Given the description of an element on the screen output the (x, y) to click on. 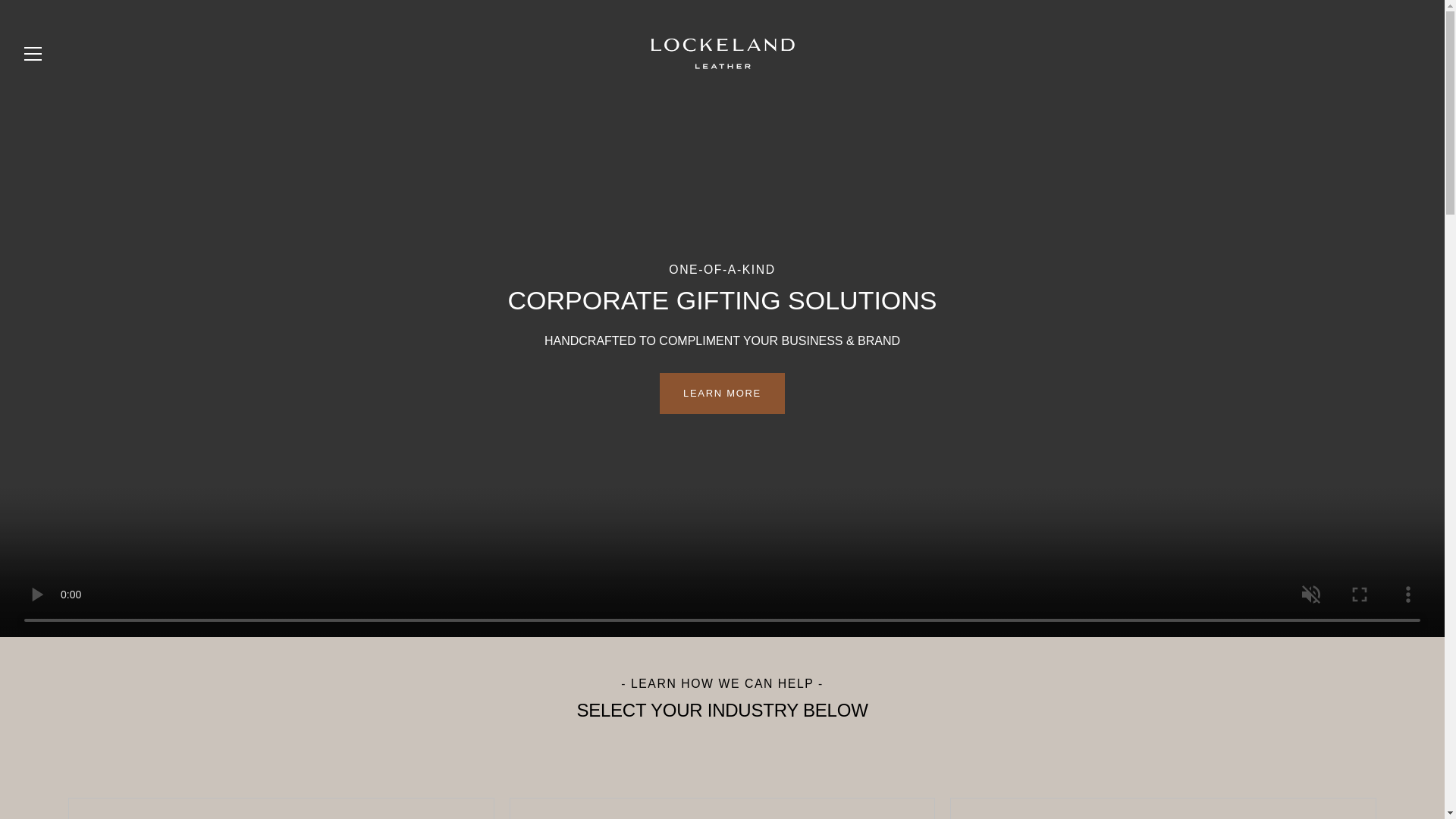
LEARN MORE (721, 393)
